Given the description of an element on the screen output the (x, y) to click on. 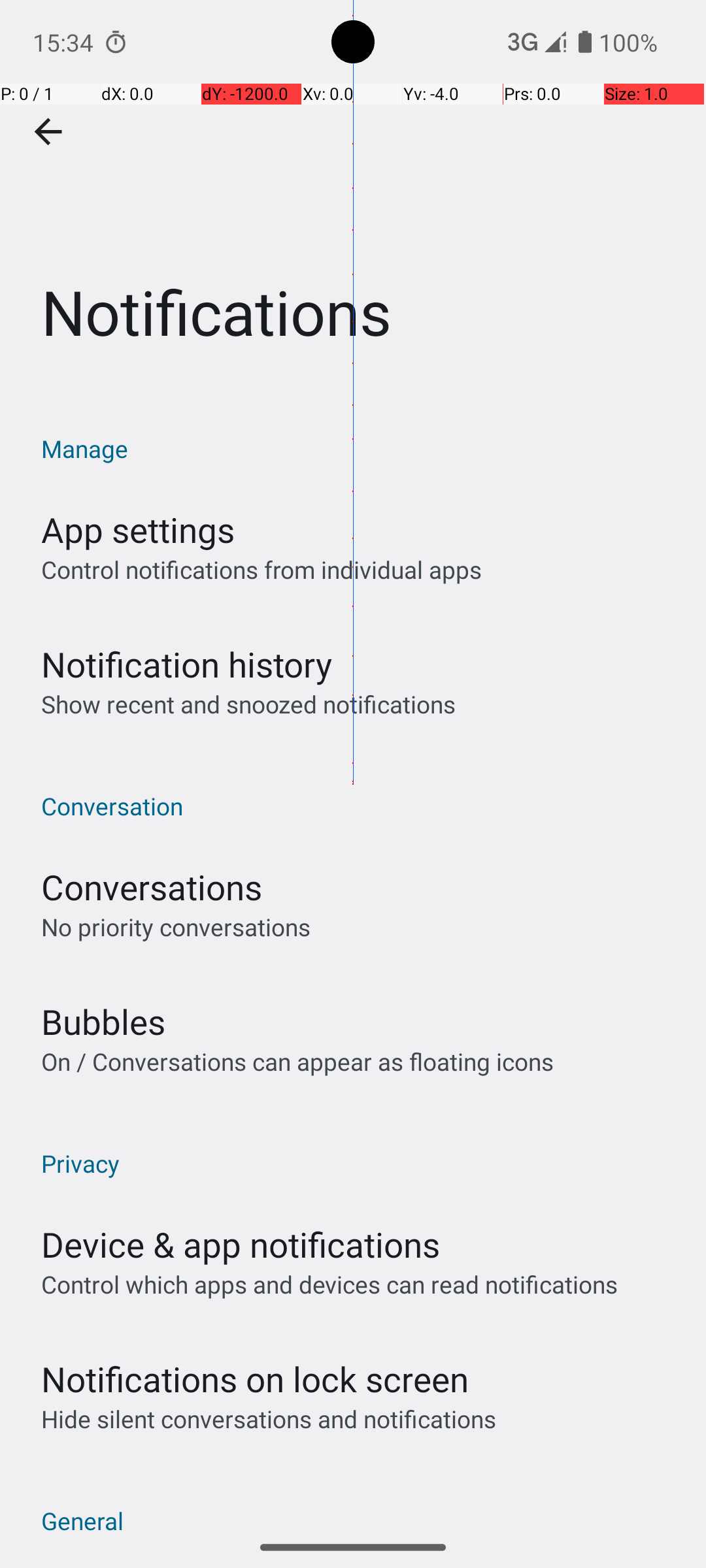
Manage Element type: android.widget.TextView (359, 448)
App settings Element type: android.widget.TextView (137, 529)
Control notifications from individual apps Element type: android.widget.TextView (261, 569)
Notification history Element type: android.widget.TextView (186, 663)
Show recent and snoozed notifications Element type: android.widget.TextView (248, 703)
Conversation Element type: android.widget.TextView (359, 805)
No priority conversations Element type: android.widget.TextView (175, 926)
Bubbles Element type: android.widget.TextView (103, 1021)
On / Conversations can appear as floating icons Element type: android.widget.TextView (297, 1061)
Privacy Element type: android.widget.TextView (359, 1162)
Control which apps and devices can read notifications Element type: android.widget.TextView (329, 1283)
Notifications on lock screen Element type: android.widget.TextView (254, 1378)
Hide silent conversations and notifications Element type: android.widget.TextView (268, 1418)
